Given the description of an element on the screen output the (x, y) to click on. 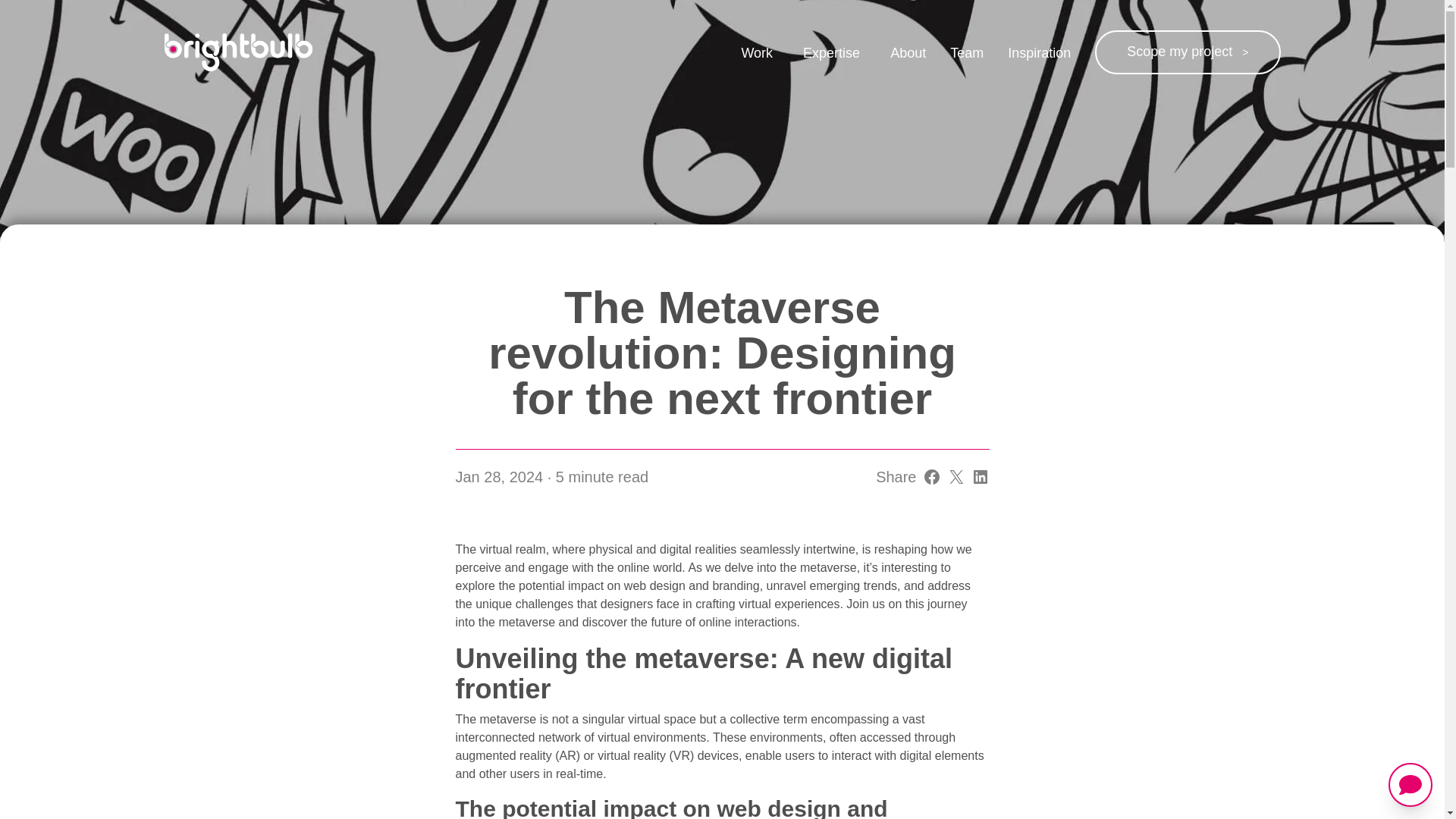
Inspiration (1038, 53)
Inspiration (1038, 53)
Work (757, 53)
Expertise (831, 53)
Team (967, 53)
Expertise (831, 53)
About (907, 53)
Home (237, 52)
Team (967, 53)
Work (757, 53)
About (907, 53)
